Given the description of an element on the screen output the (x, y) to click on. 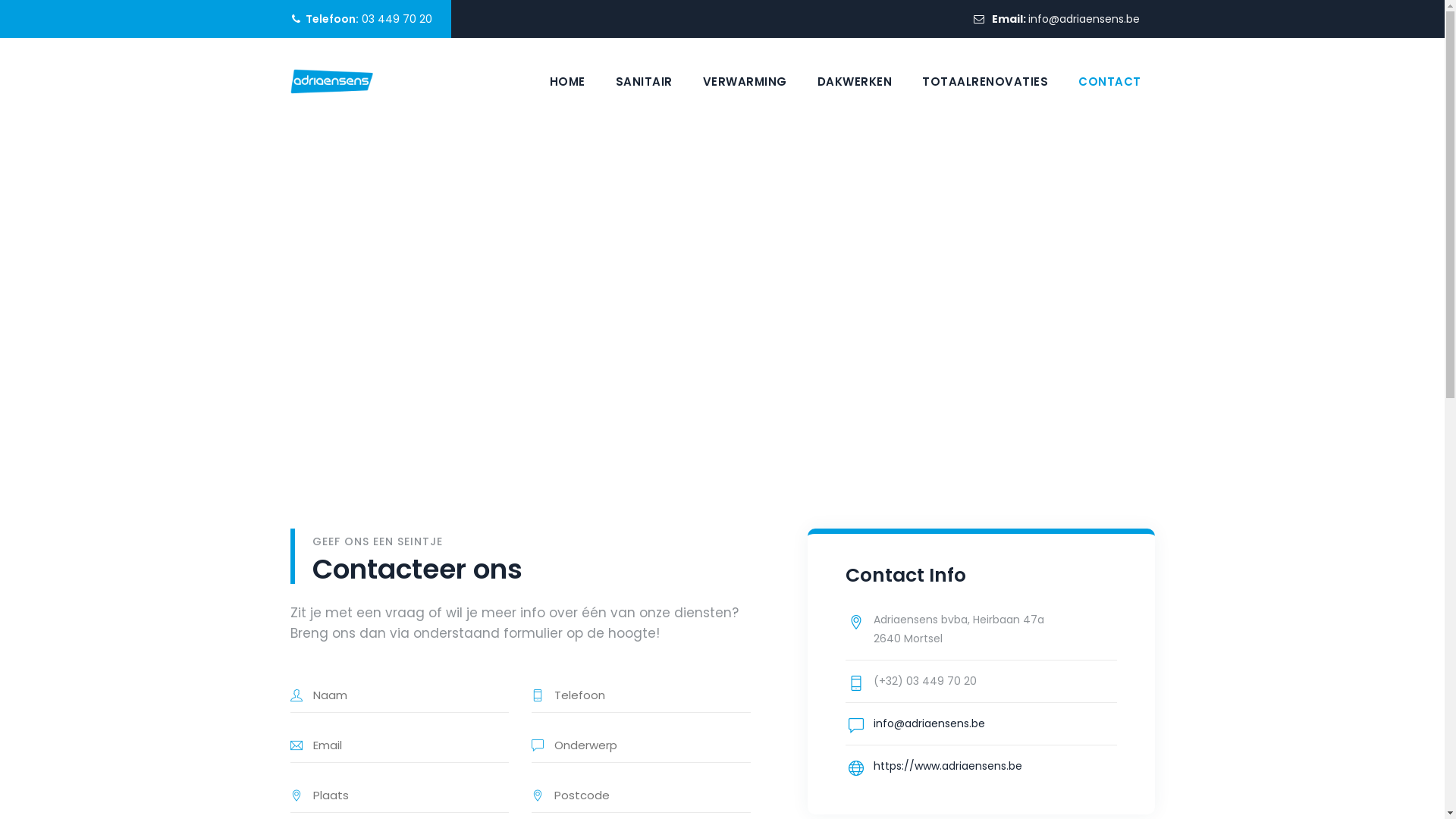
https://www.adriaensens.be Element type: text (947, 765)
VERWARMING Element type: text (744, 81)
SANITAIR Element type: text (644, 81)
CONTACT Element type: text (1109, 81)
info@adriaensens.be Element type: text (1083, 18)
Adriaensens Bouwonderneming Element type: hover (330, 81)
HOME Element type: text (566, 81)
info@adriaensens.be Element type: text (929, 723)
TOTAALRENOVATIES Element type: text (984, 81)
DAKWERKEN Element type: text (854, 81)
